Given the description of an element on the screen output the (x, y) to click on. 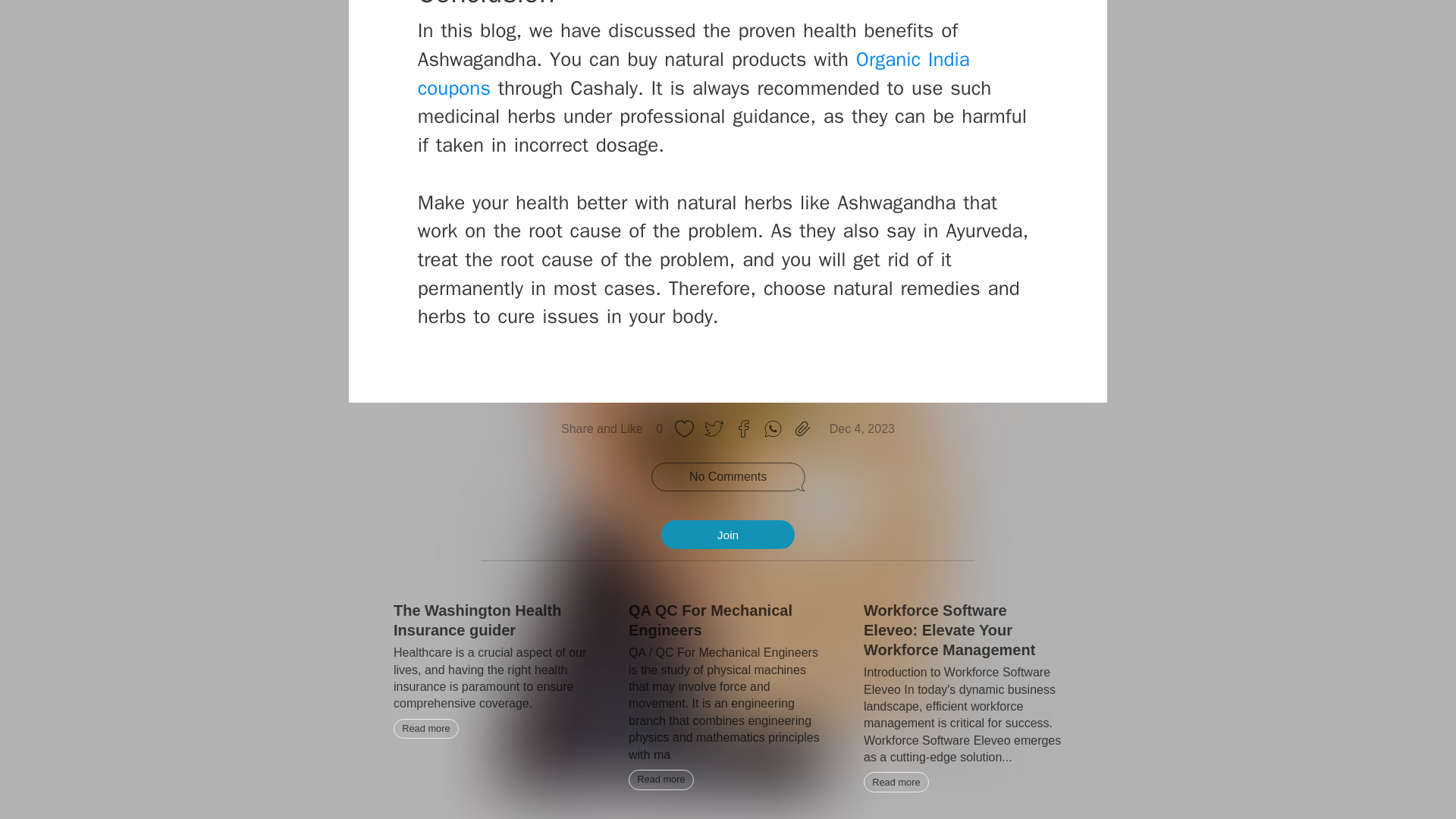
Share on Facebook (743, 428)
Show navigation menu (727, 817)
Join (727, 534)
Like this post (683, 428)
Share on Twitter (713, 428)
Share on Whatsapp (772, 428)
Organic India coupons (693, 73)
No Comments (728, 476)
